Given the description of an element on the screen output the (x, y) to click on. 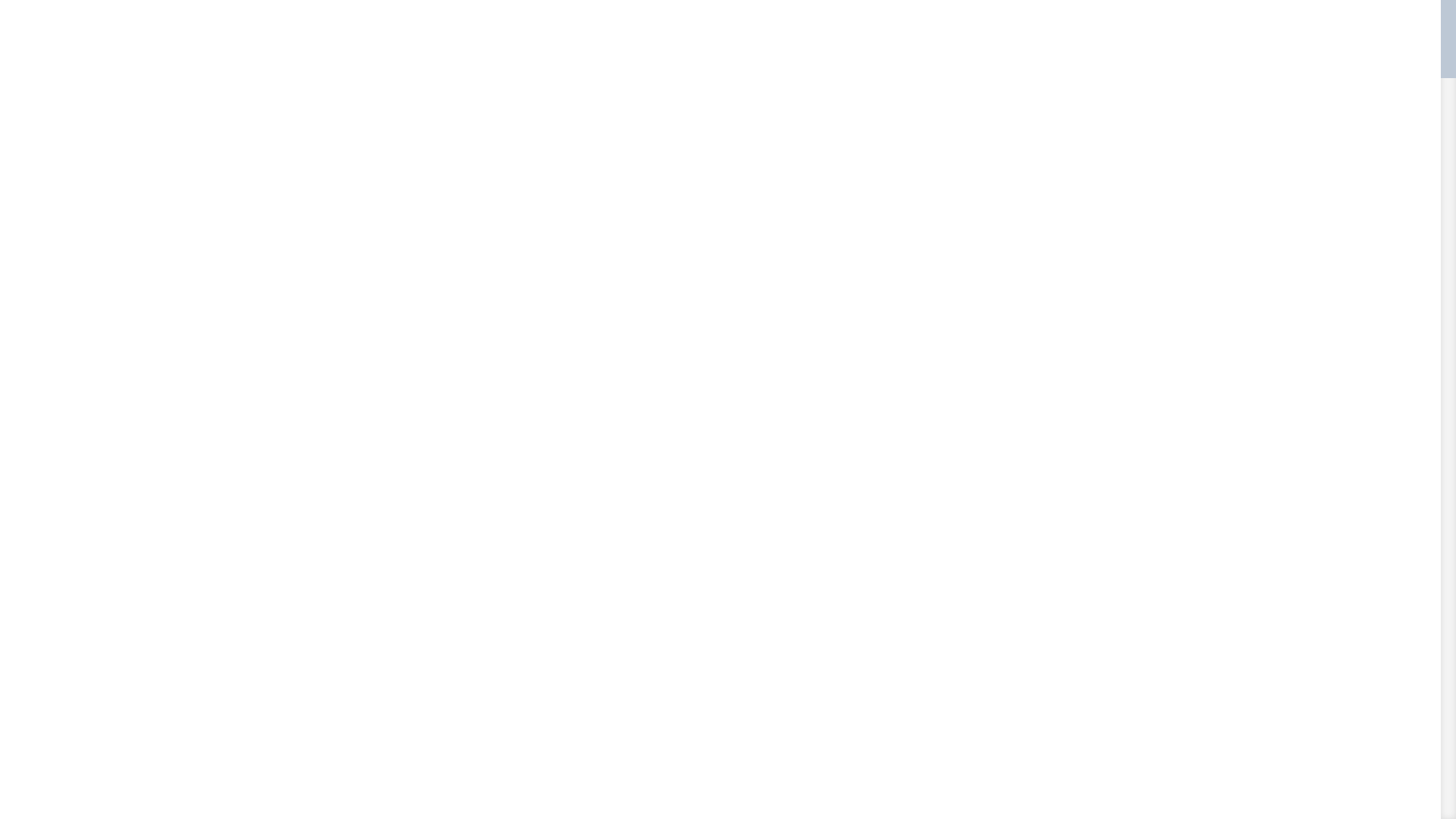
December 2021 Element type: text (1019, 583)
Lessons & Workshops Element type: text (580, 65)
Alexander Technique basics Element type: text (1047, 803)
back pain Element type: text (513, 546)
Book Now Element type: text (1078, 65)
Workplace Training Element type: text (852, 65)
Resources Element type: text (945, 65)
May 2023 Element type: text (1005, 559)
September 2021 Element type: text (1021, 630)
August 2023 Element type: text (1011, 536)
November 2020 Element type: text (1019, 676)
Search Element type: text (1104, 143)
Alexander Technique Element type: text (1031, 738)
michael@alexandertechnique.net.au Element type: text (475, 11)
Lower back pain Element type: text (580, 546)
Manage your herniated disc Element type: text (1047, 430)
Alexander Technique and breathing Element type: text (1041, 397)
Manage your herniated disc Element type: text (432, 520)
December 2020 Element type: text (1019, 653)
November 2021 Element type: text (1019, 606)
Call Now Element type: text (1012, 65)
Alexander Technique appplications Element type: text (1031, 771)
Home Element type: text (475, 65)
michaelshellshear Element type: text (367, 546)
Teacher Training Course Element type: text (725, 65)
